Given the description of an element on the screen output the (x, y) to click on. 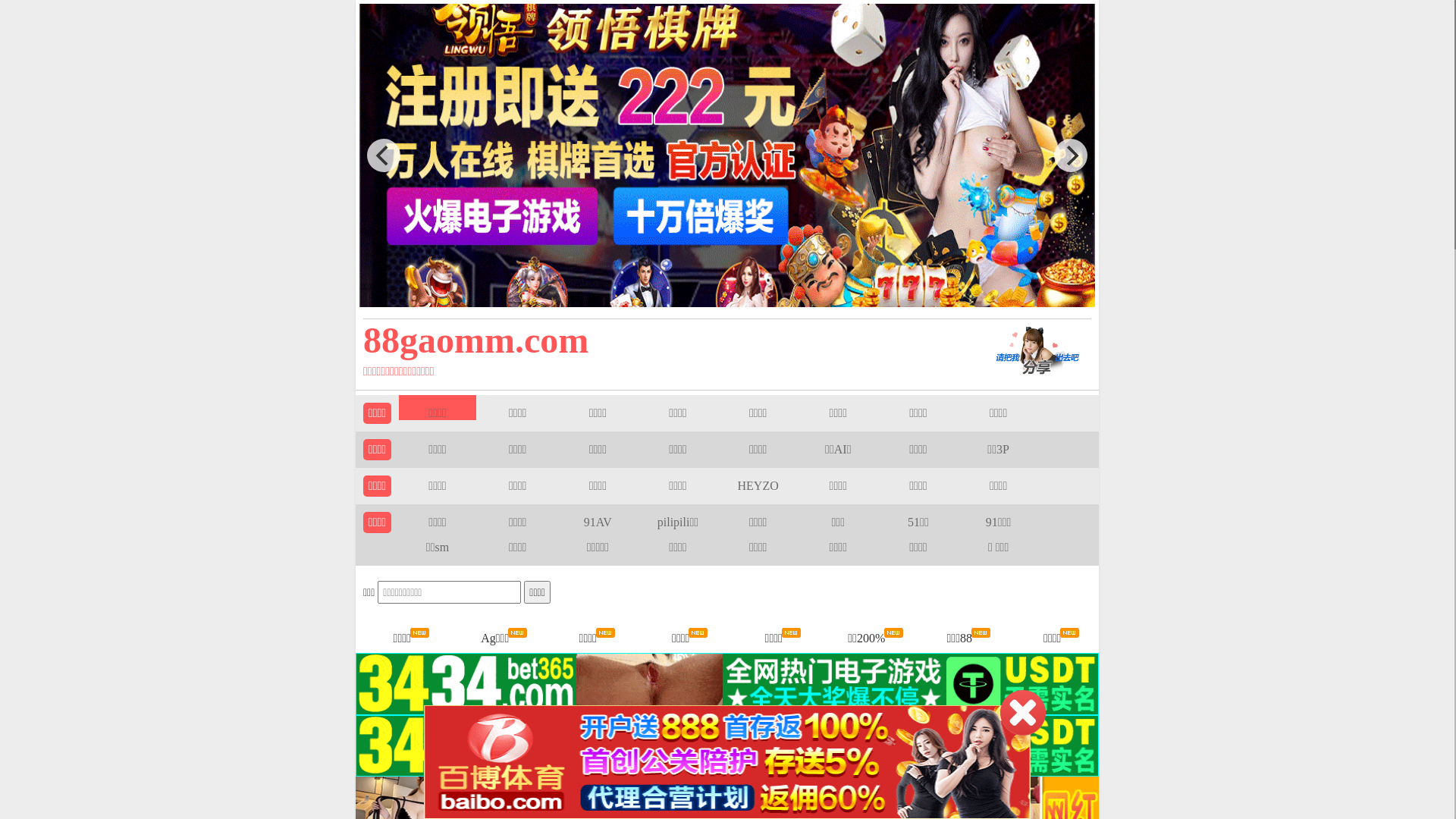
91AV Element type: text (597, 521)
HEYZO Element type: text (757, 485)
88gaomm.com Element type: text (654, 339)
